Given the description of an element on the screen output the (x, y) to click on. 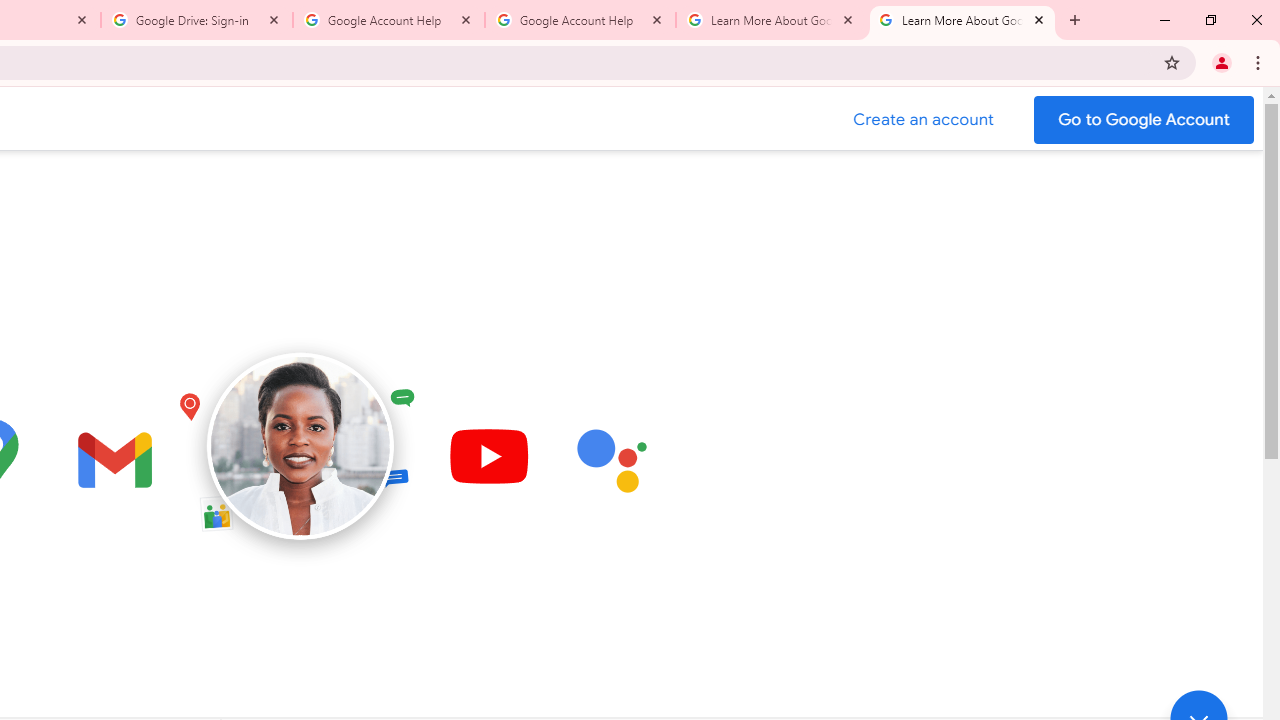
Google Drive: Sign-in (197, 20)
Create a Google Account (923, 119)
Google Account Help (580, 20)
Google Account Help (389, 20)
Go to your Google Account (1144, 119)
